Given the description of an element on the screen output the (x, y) to click on. 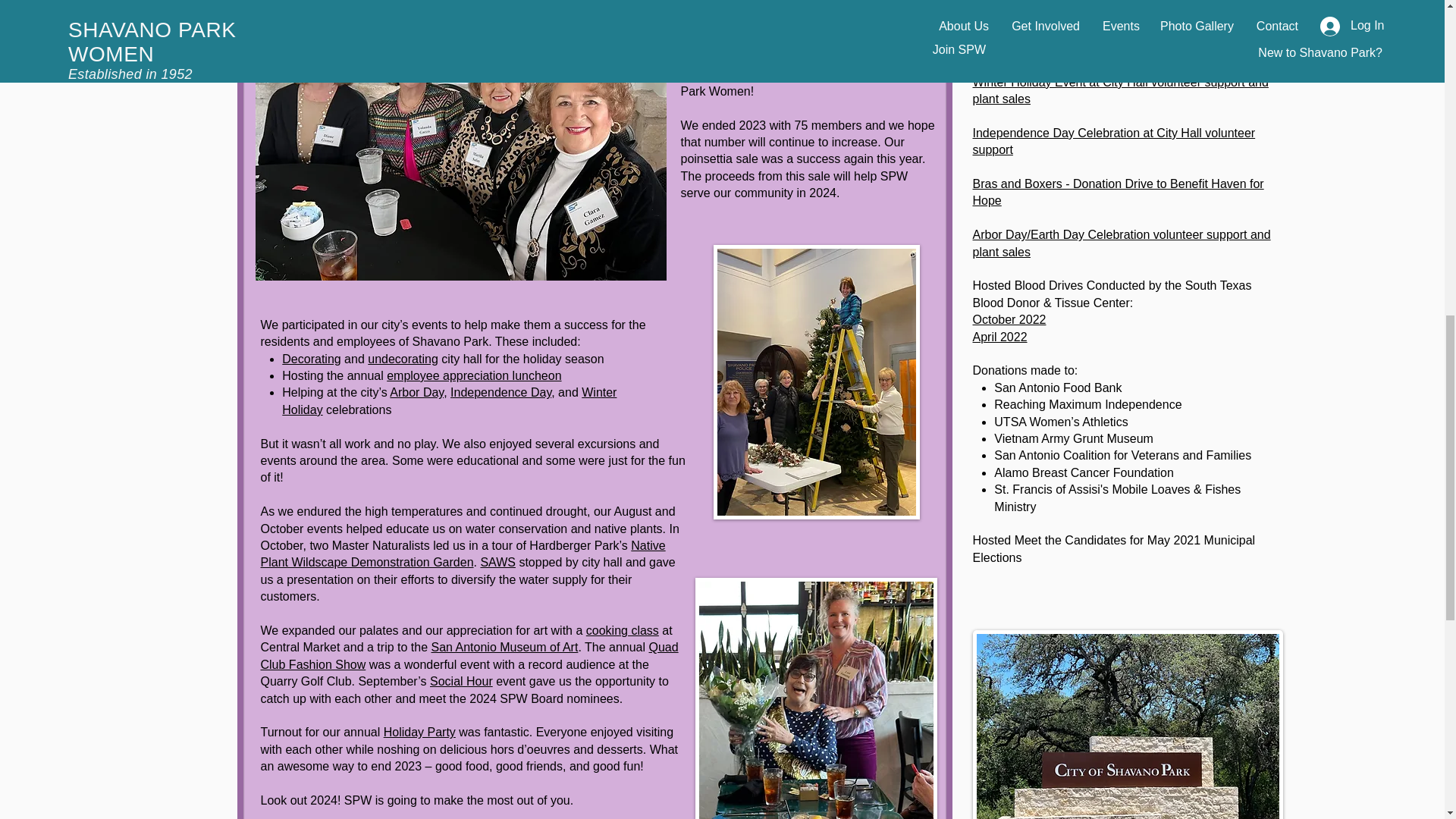
Winter Holiday (448, 400)
Decorating (311, 358)
Arbor Day (417, 391)
Independence Day Celebration at City Hall volunteer support (1113, 141)
undecorating (403, 358)
Social Hour (461, 680)
cooking class (622, 630)
Native Plant Wildscape Demonstration Garden (462, 553)
Holiday Party (419, 731)
SAWS (497, 562)
San Antonio Museum of Art (504, 646)
Annual Employee Appreciation Luncheon (1082, 13)
employee appreciation luncheon (473, 375)
Independence Day (500, 391)
